Given the description of an element on the screen output the (x, y) to click on. 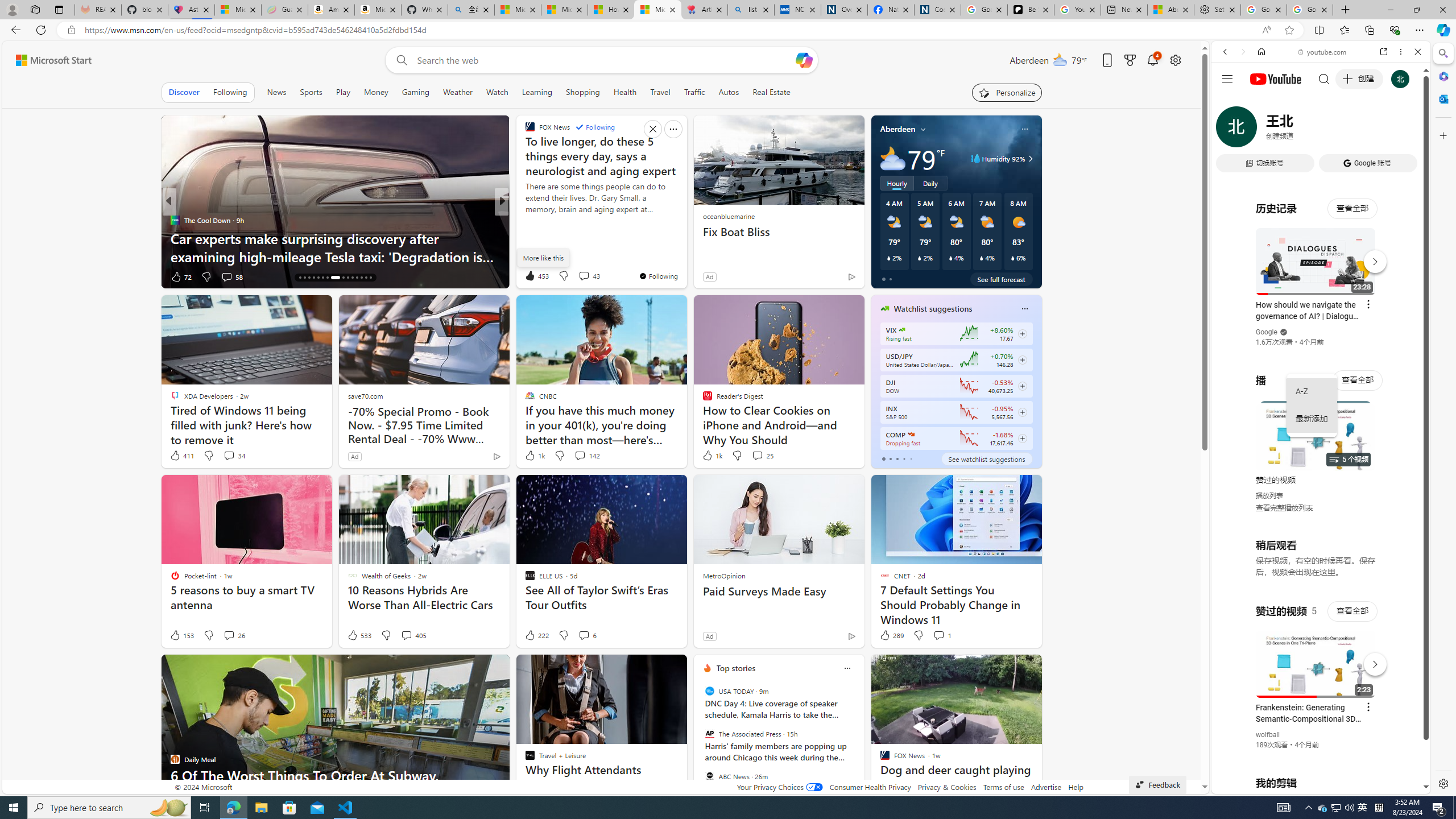
Your Privacy Choices (779, 786)
AutomationID: tab-17 (304, 277)
